Given the description of an element on the screen output the (x, y) to click on. 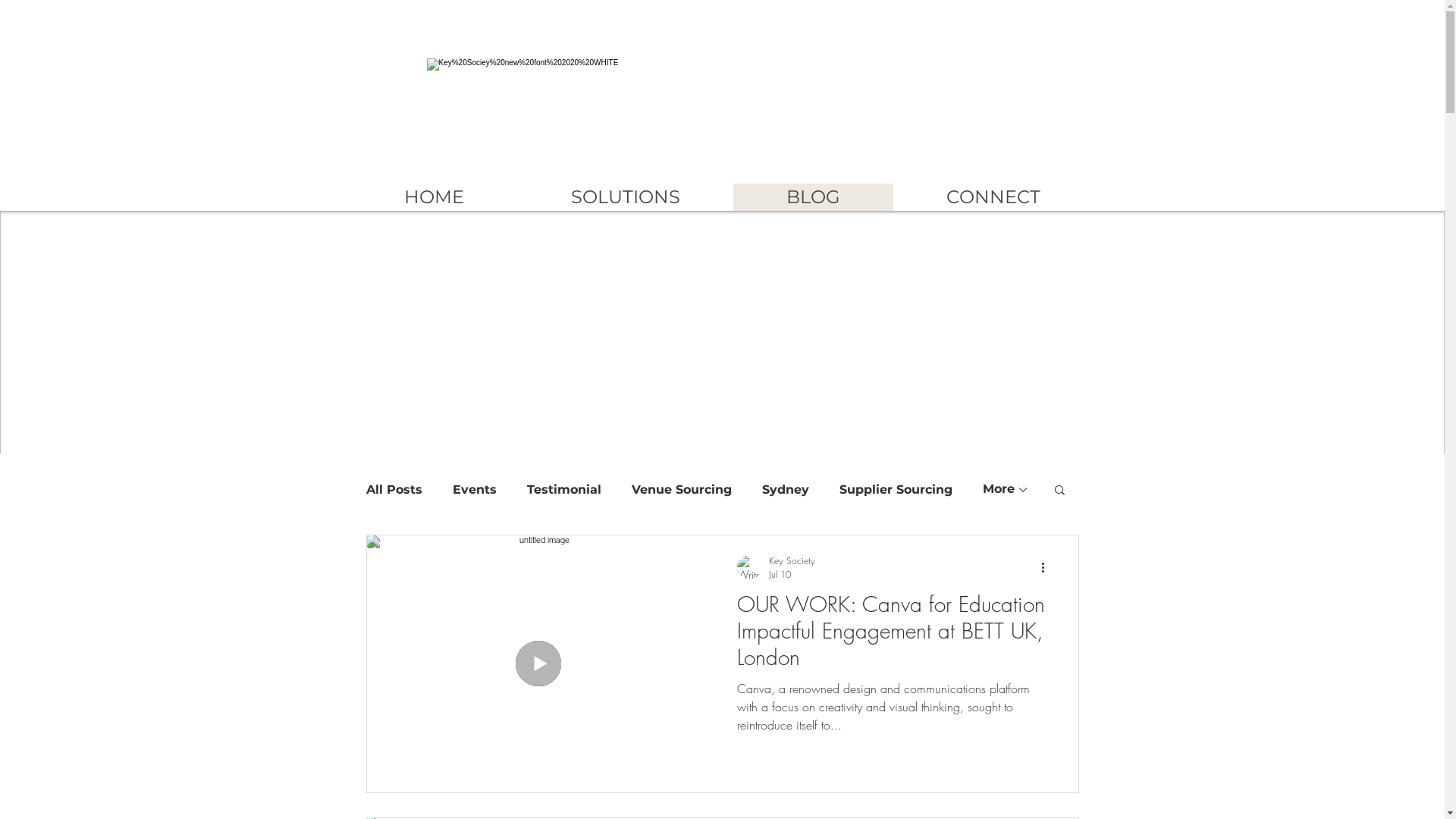
Sydney Element type: text (784, 489)
All Posts Element type: text (393, 489)
Supplier Sourcing Element type: text (894, 489)
BLOG Element type: text (812, 196)
SOLUTIONS Element type: text (625, 196)
Events Element type: text (473, 489)
Venue Sourcing Element type: text (680, 489)
CONNECT Element type: text (993, 196)
Testimonial Element type: text (563, 489)
HOME Element type: text (433, 196)
